Given the description of an element on the screen output the (x, y) to click on. 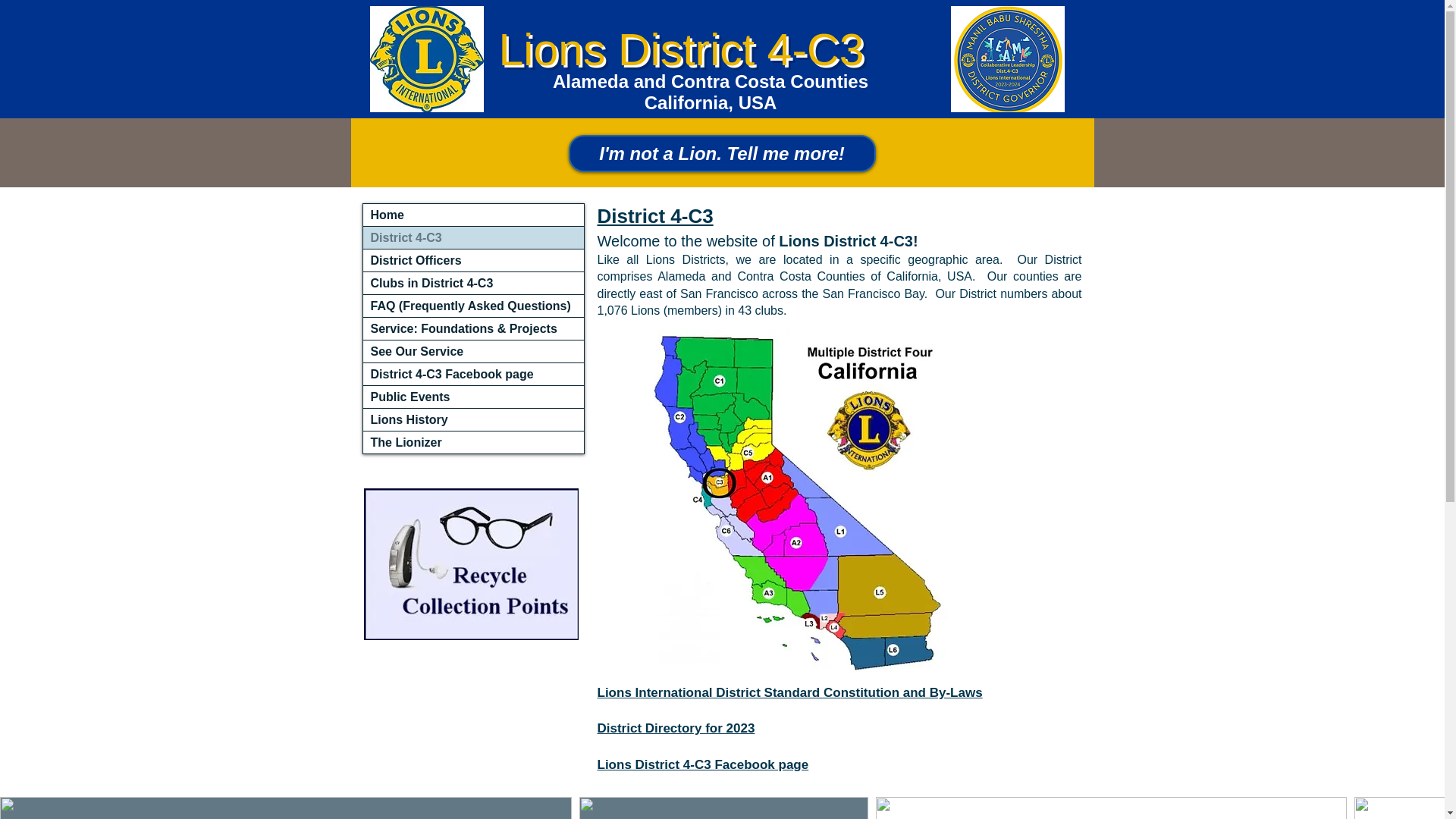
Lions-logo-1.jpg (1007, 58)
The Lionizer (472, 442)
See Our Service (472, 351)
Public Events (472, 396)
Lions District 4-C3 Facebook page (702, 764)
Home (472, 214)
I'm not a Lion. Tell me more! (722, 153)
District Directory for 2023 (675, 728)
Lions History (472, 419)
